Given the description of an element on the screen output the (x, y) to click on. 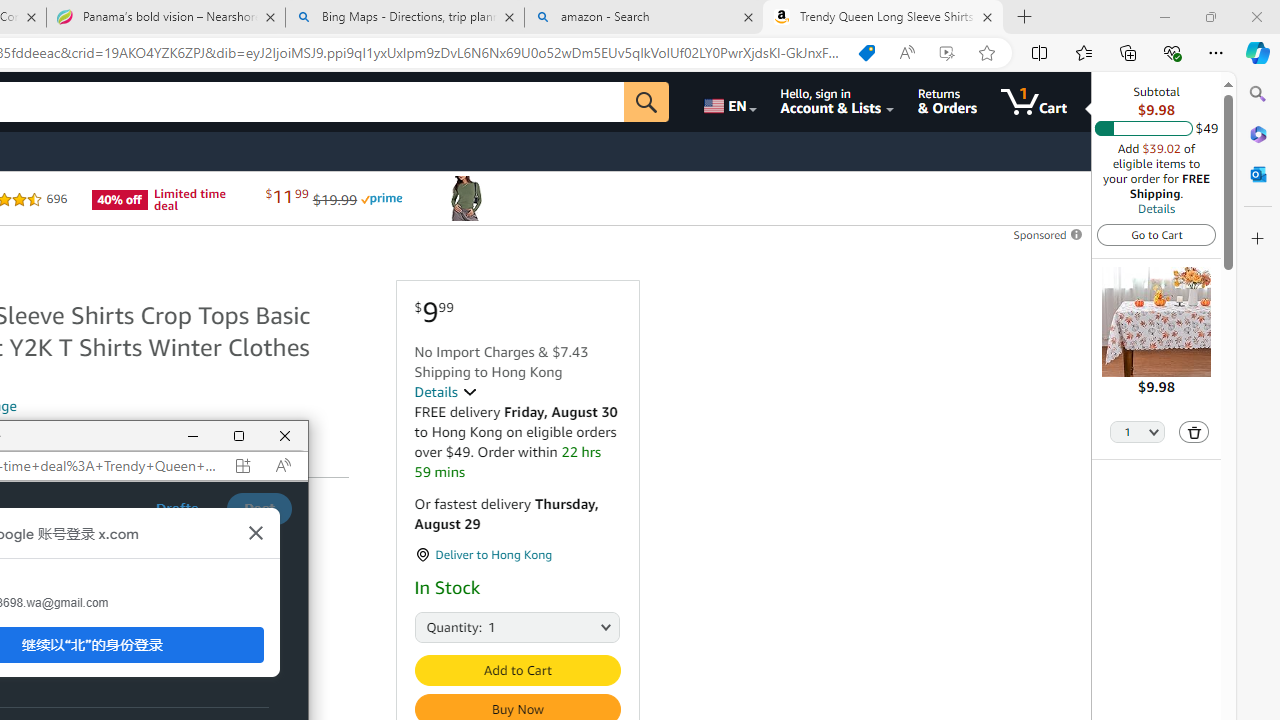
Maximize (239, 436)
